Given the description of an element on the screen output the (x, y) to click on. 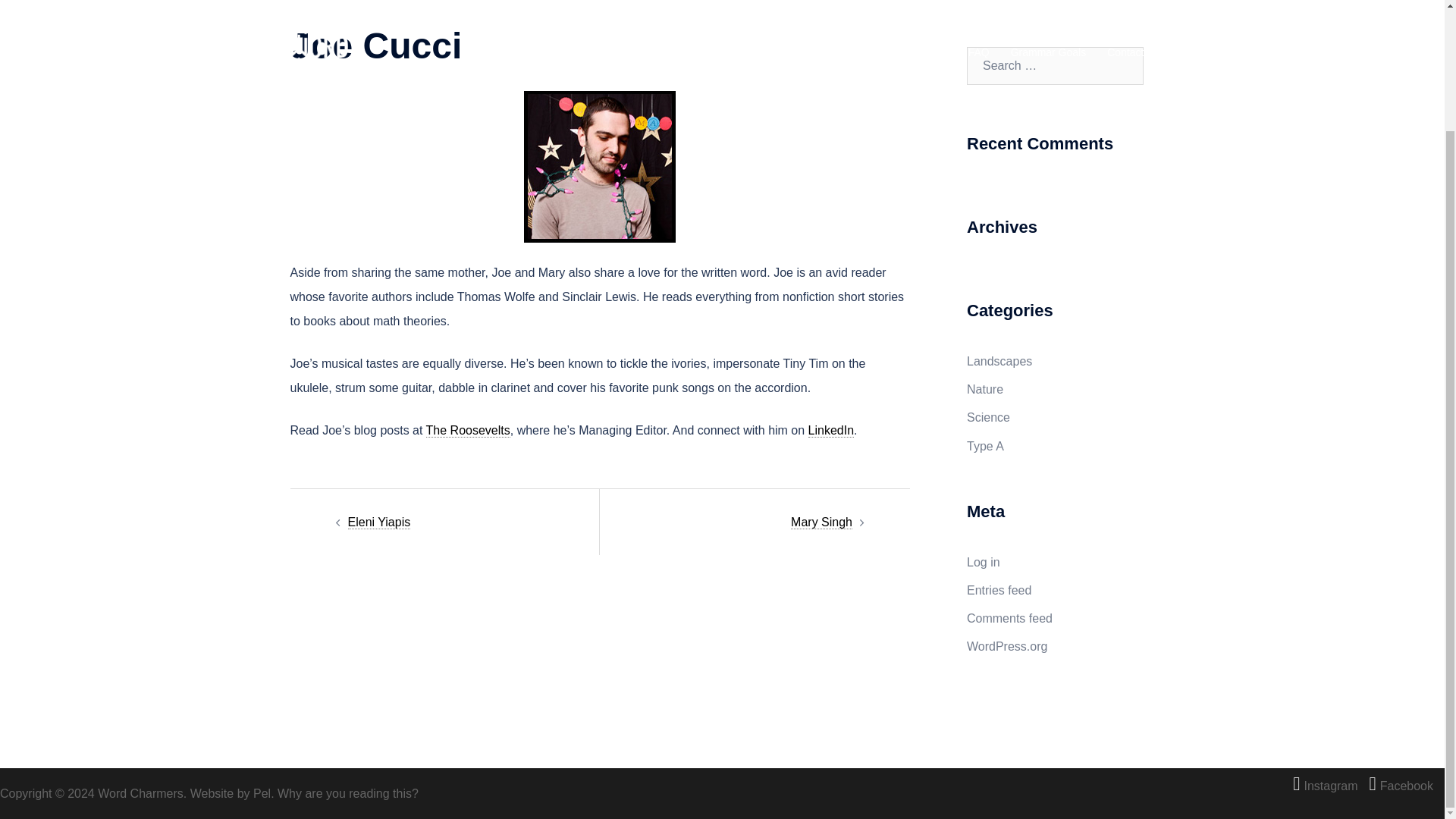
Mary Singh (820, 522)
LinkedIn (831, 430)
Nature (984, 389)
The Roosevelts (468, 430)
Log in (983, 562)
Eleni Yiapis (378, 522)
Type A (985, 445)
Landscapes (999, 360)
Pel (261, 792)
Science (988, 417)
